Given the description of an element on the screen output the (x, y) to click on. 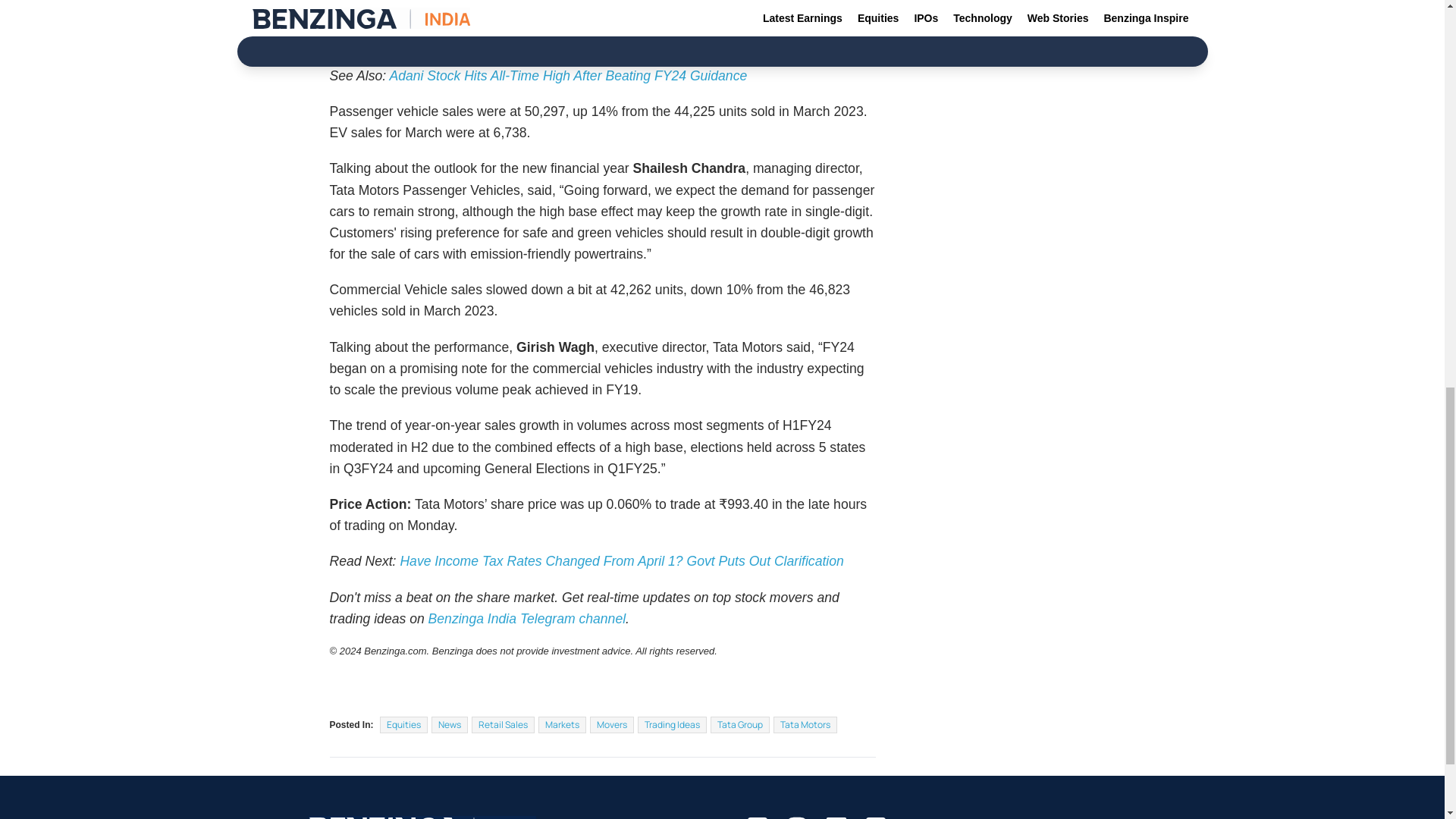
Tata Motors (805, 724)
News (448, 724)
Movers (611, 724)
Markets (562, 724)
Equities (404, 724)
Trading Ideas (671, 724)
Adani Stock Hits All-Time High After Beating FY24 Guidance (567, 75)
Retail Sales (502, 724)
Benzinga India Telegram channel (527, 618)
Tata Group (740, 724)
